Given the description of an element on the screen output the (x, y) to click on. 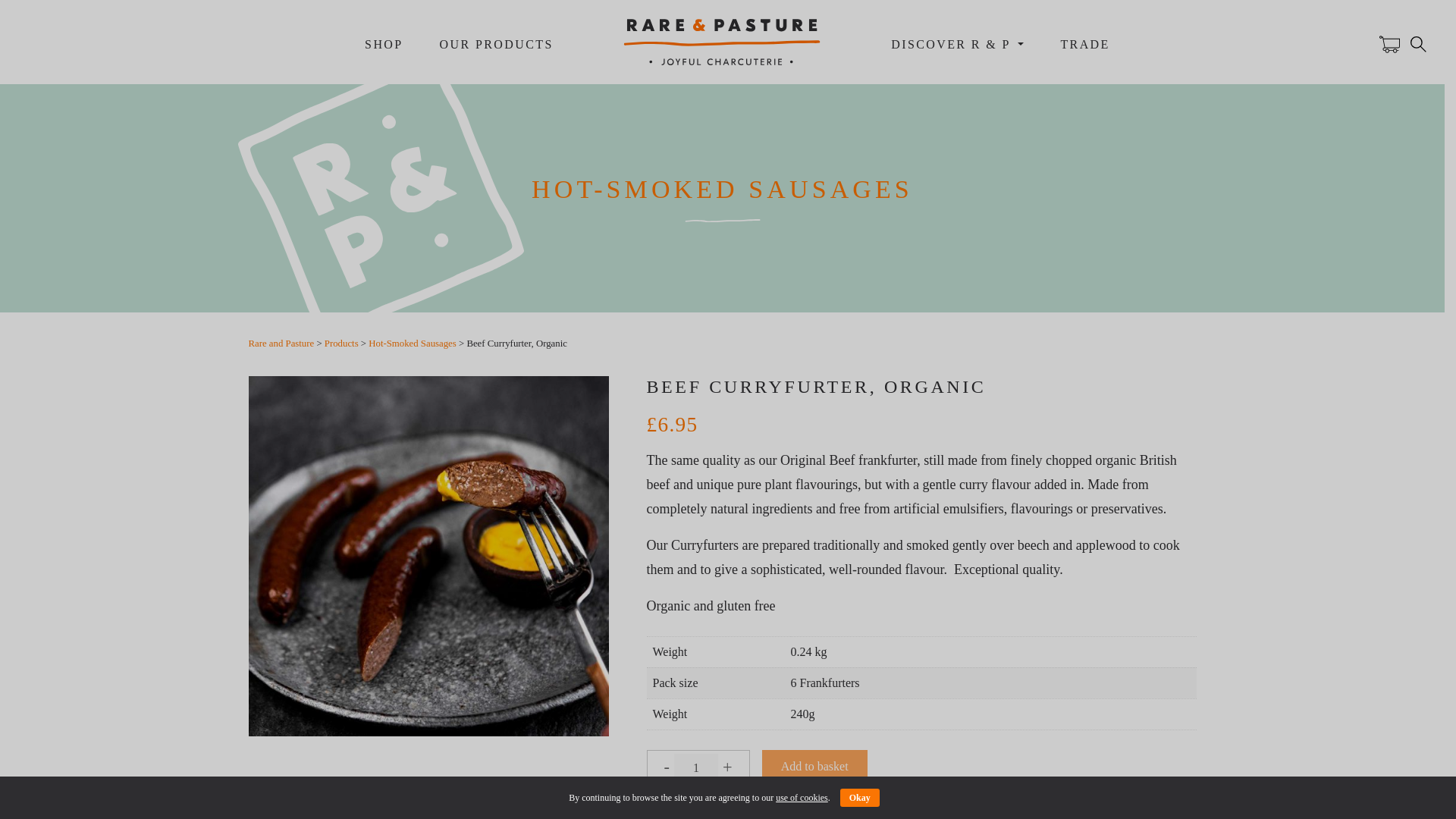
Go to Rare and Pasture. (281, 343)
- (666, 767)
SHOP (383, 47)
Rare and Pasture (281, 343)
Add to basket (814, 766)
Qty (695, 764)
Hot-Smoked Sausages (412, 343)
Go to the Hot-Smoked Sausages Category archives. (412, 343)
Go to Products. (341, 343)
1 (695, 764)
OUR PRODUCTS (496, 47)
TRADE (1085, 47)
Products (341, 343)
